Given the description of an element on the screen output the (x, y) to click on. 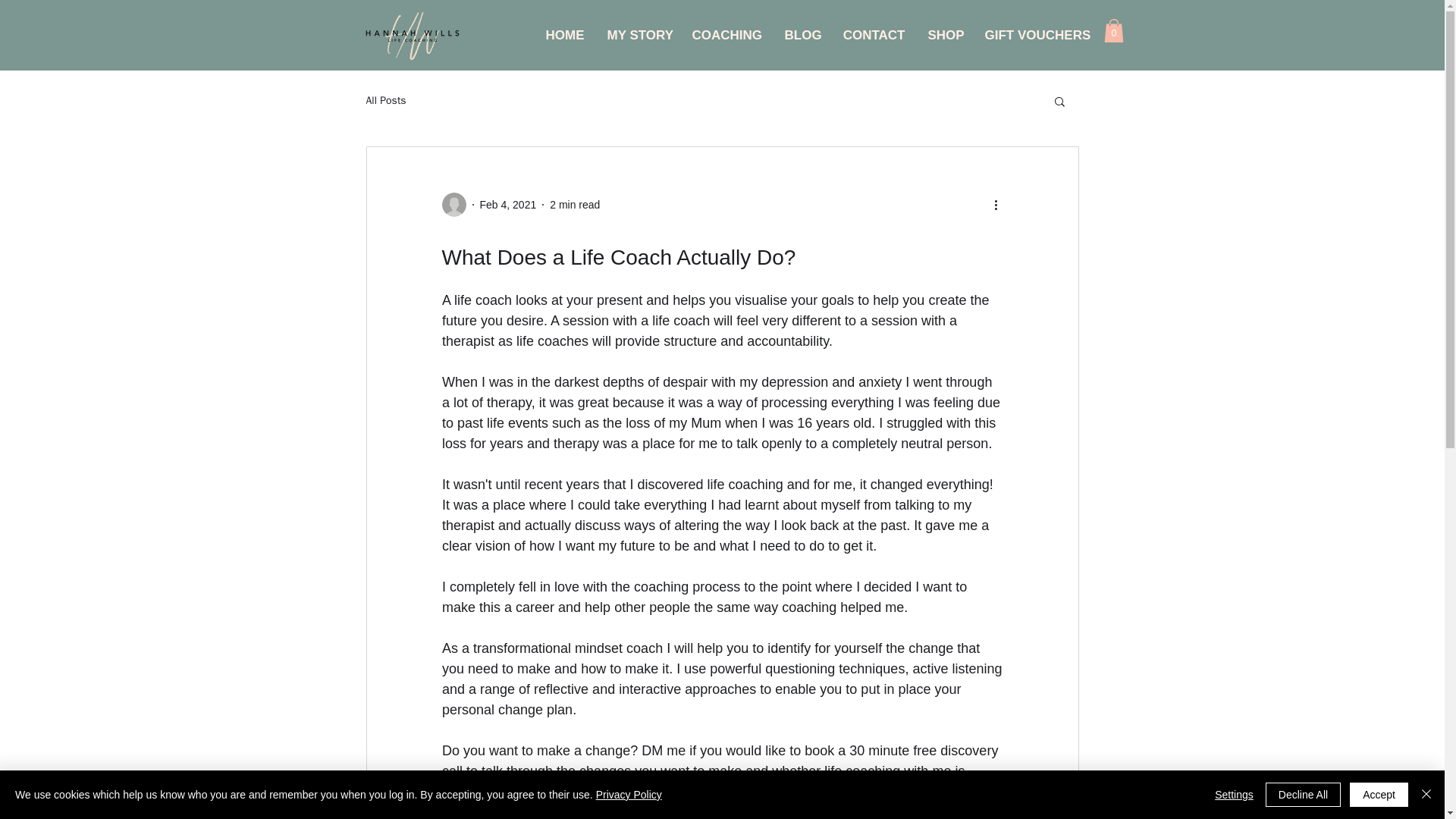
All Posts (385, 100)
2 min read (574, 204)
GIFT VOUCHERS (1034, 35)
Feb 4, 2021 (507, 204)
CONTACT (873, 35)
MY STORY (638, 35)
COACHING (727, 35)
